Given the description of an element on the screen output the (x, y) to click on. 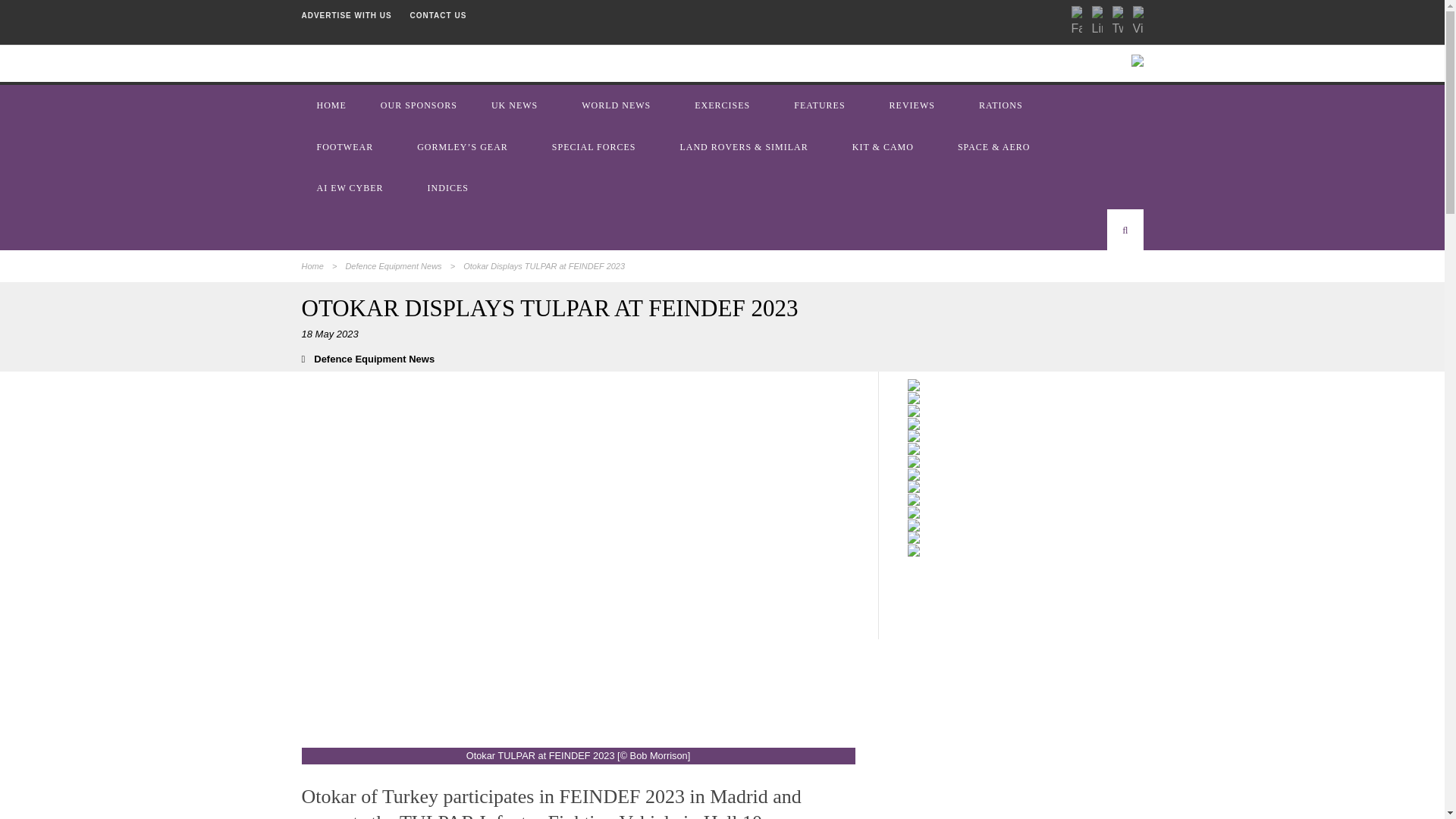
HOME (333, 105)
ADVERTISE WITH US (346, 15)
CONTACT US (438, 15)
